Given the description of an element on the screen output the (x, y) to click on. 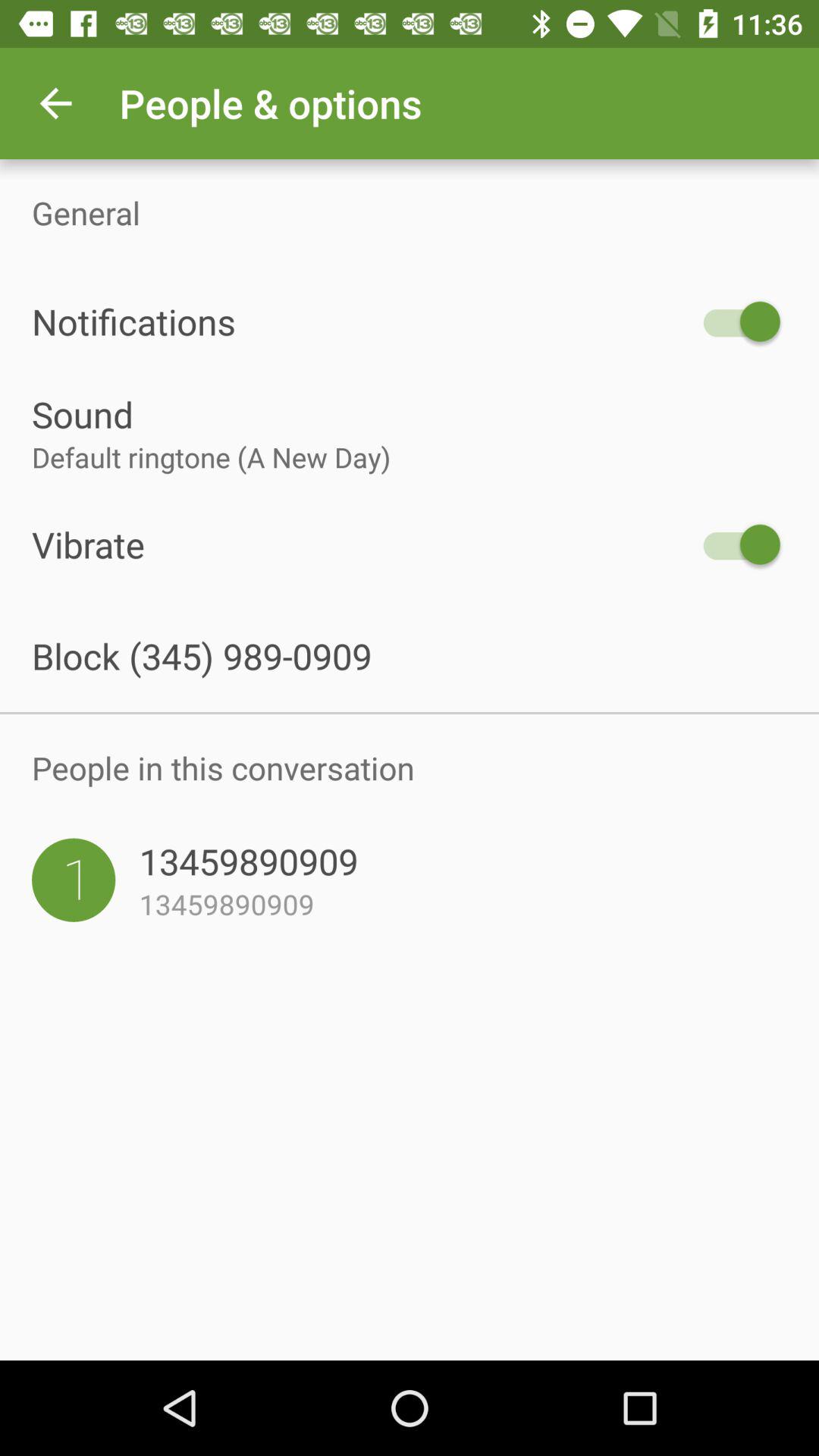
open item to the left of the people & options (55, 103)
